Given the description of an element on the screen output the (x, y) to click on. 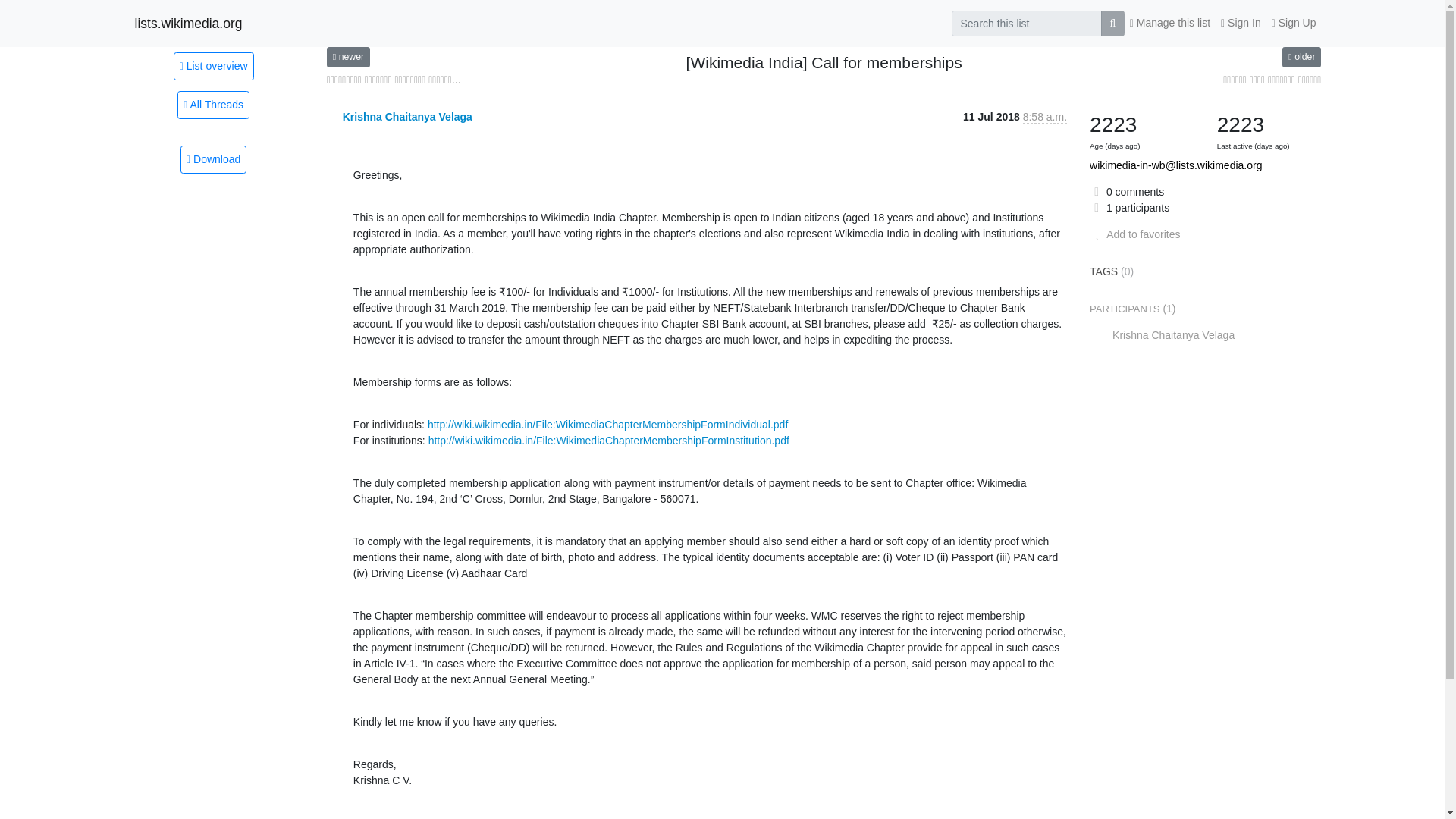
Manage this list (1169, 22)
Download (213, 159)
See the profile for Krishna Chaitanya Velaga (406, 116)
newer (347, 56)
older (1301, 56)
All Threads (212, 104)
You must be logged-in to have favorites. (1134, 234)
List overview (213, 65)
Sign Up (1294, 22)
This thread in gzipped mbox format (213, 159)
